Given the description of an element on the screen output the (x, y) to click on. 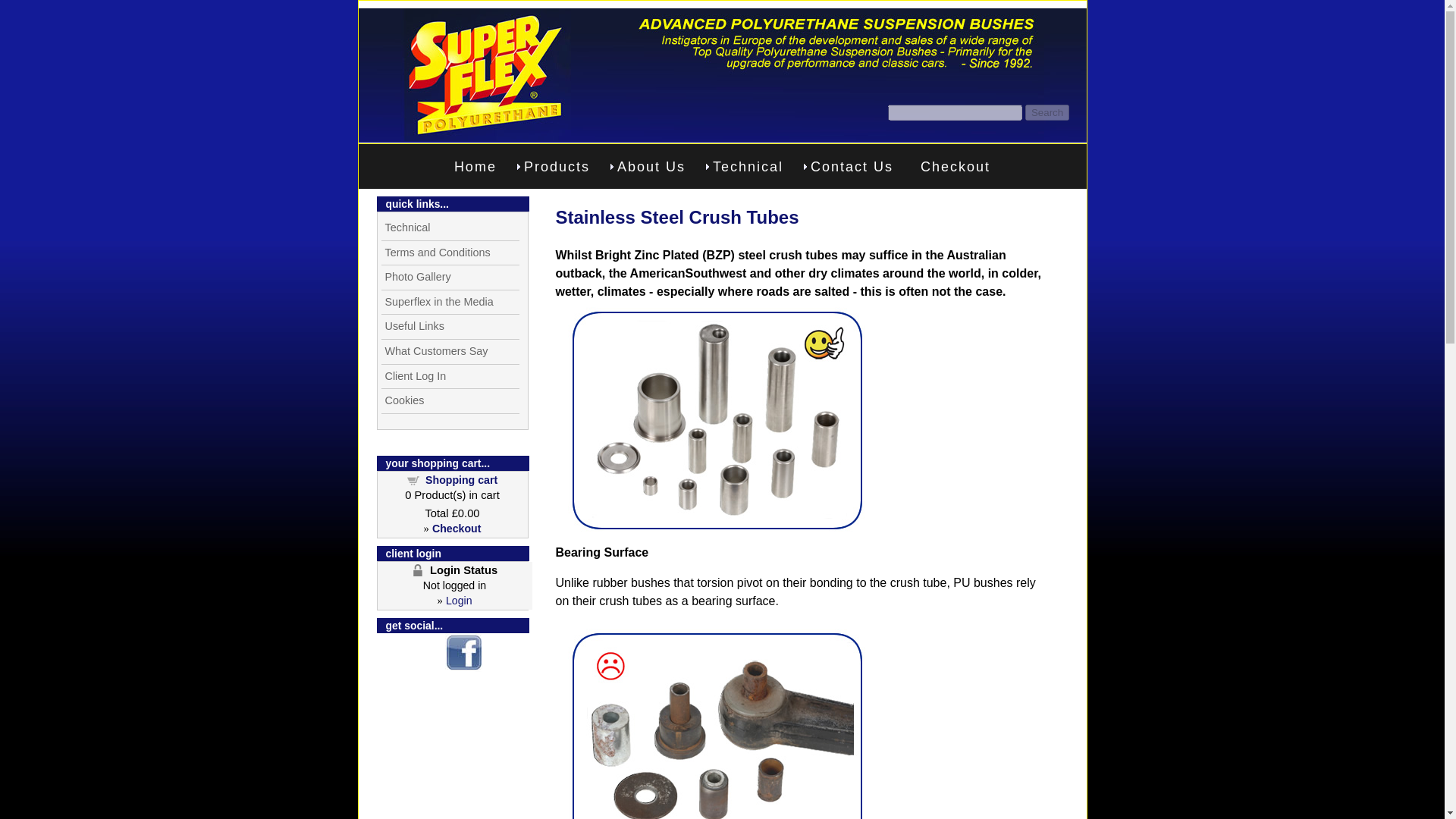
About Us (651, 166)
Technical (747, 166)
Cookies (449, 401)
Superflex in the Media (449, 302)
Contact Us (851, 166)
Search (1046, 112)
Home (476, 166)
Terms and Conditions (449, 252)
Shopping cart (461, 480)
What Customers Say (449, 351)
